Given the description of an element on the screen output the (x, y) to click on. 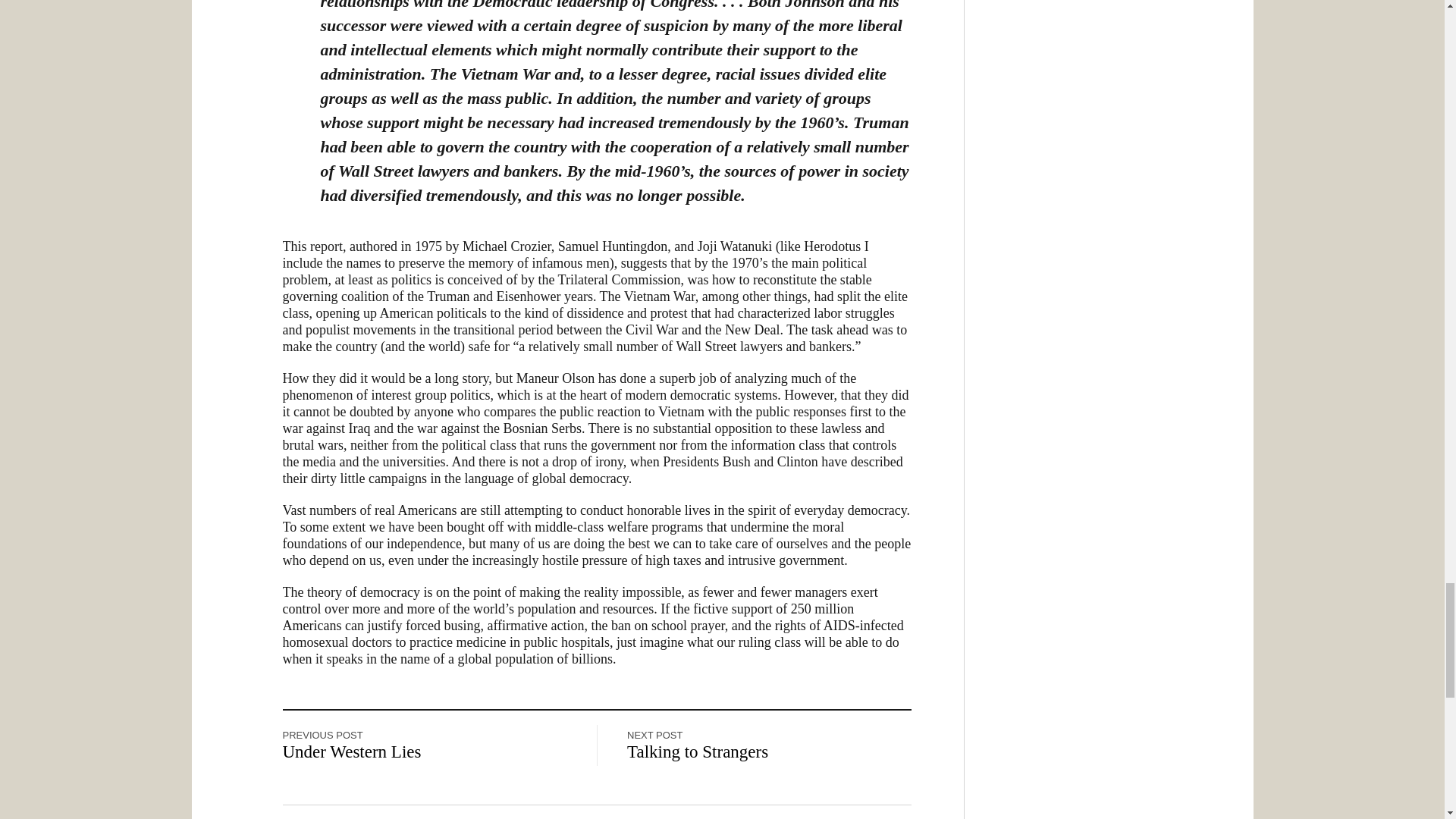
Under Western Lies (351, 752)
Talking to Strangers (697, 752)
